Given the description of an element on the screen output the (x, y) to click on. 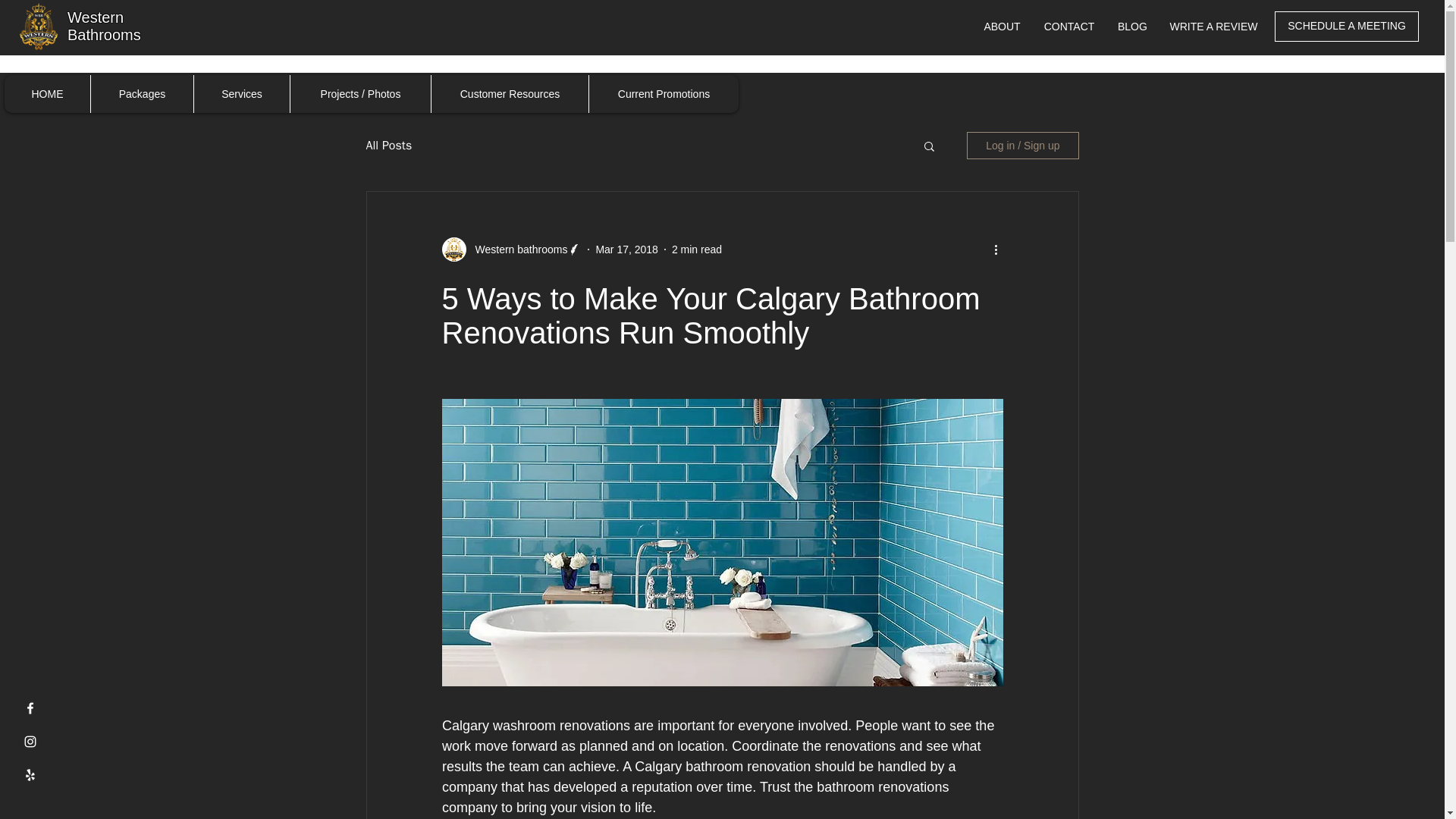
Western Bathrooms (103, 26)
Current Promotions (663, 94)
Services (241, 94)
WRITE A REVIEW (1213, 26)
CONTACT (1069, 26)
Mar 17, 2018 (626, 248)
Packages (141, 94)
BLOG (1131, 26)
ABOUT (1002, 26)
All Posts (388, 145)
